Given the description of an element on the screen output the (x, y) to click on. 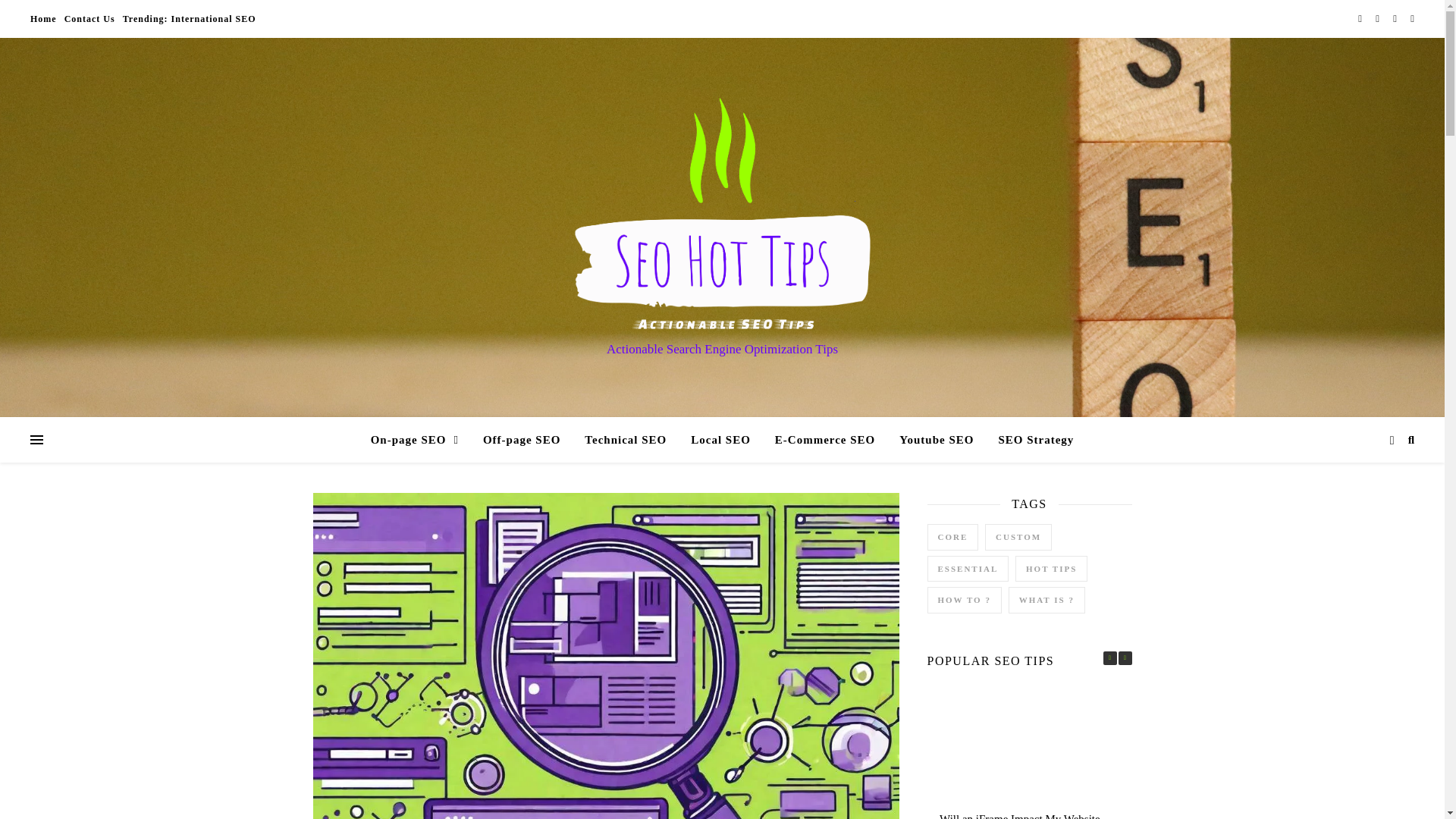
Youtube SEO (935, 439)
Trending: International SEO (187, 18)
Off-page SEO (521, 439)
E-Commerce SEO (824, 439)
On-page SEO (420, 439)
SEO Strategy (1029, 439)
Contact Us (90, 18)
SEO Hot Tips (722, 213)
Local SEO (720, 439)
Technical SEO (625, 439)
